Given the description of an element on the screen output the (x, y) to click on. 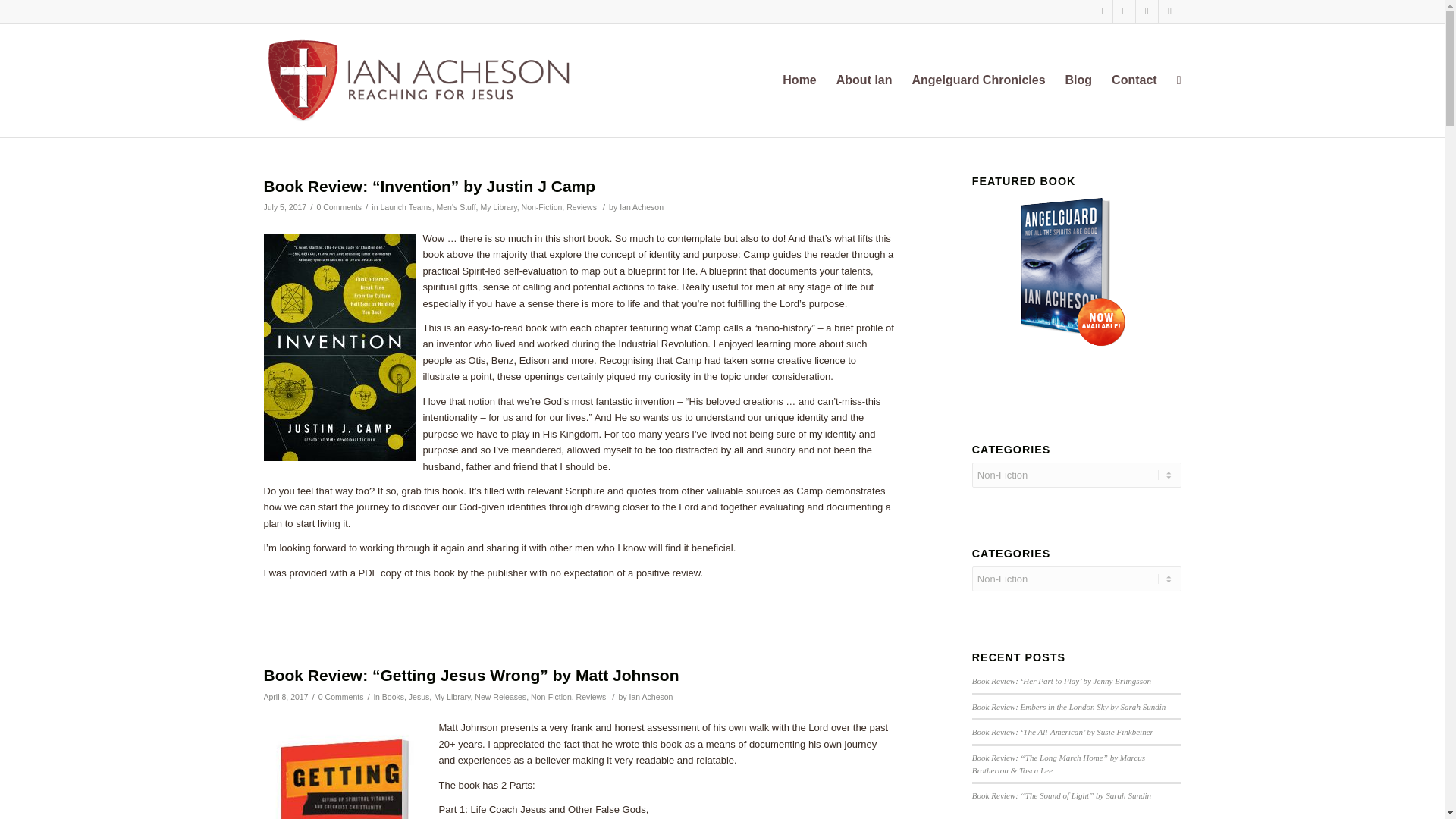
My Library (498, 206)
Reviews (591, 696)
Ian Acheson (650, 696)
0 Comments (338, 206)
0 Comments (341, 696)
Posts by Ian Acheson (650, 696)
Launch Teams (405, 206)
Angelguard Chronicles (978, 80)
Non-Fiction (551, 696)
Men's Stuff (455, 206)
New Releases (499, 696)
Jesus (419, 696)
Facebook (1124, 11)
Instagram (1146, 11)
Posts by Ian Acheson (641, 206)
